Given the description of an element on the screen output the (x, y) to click on. 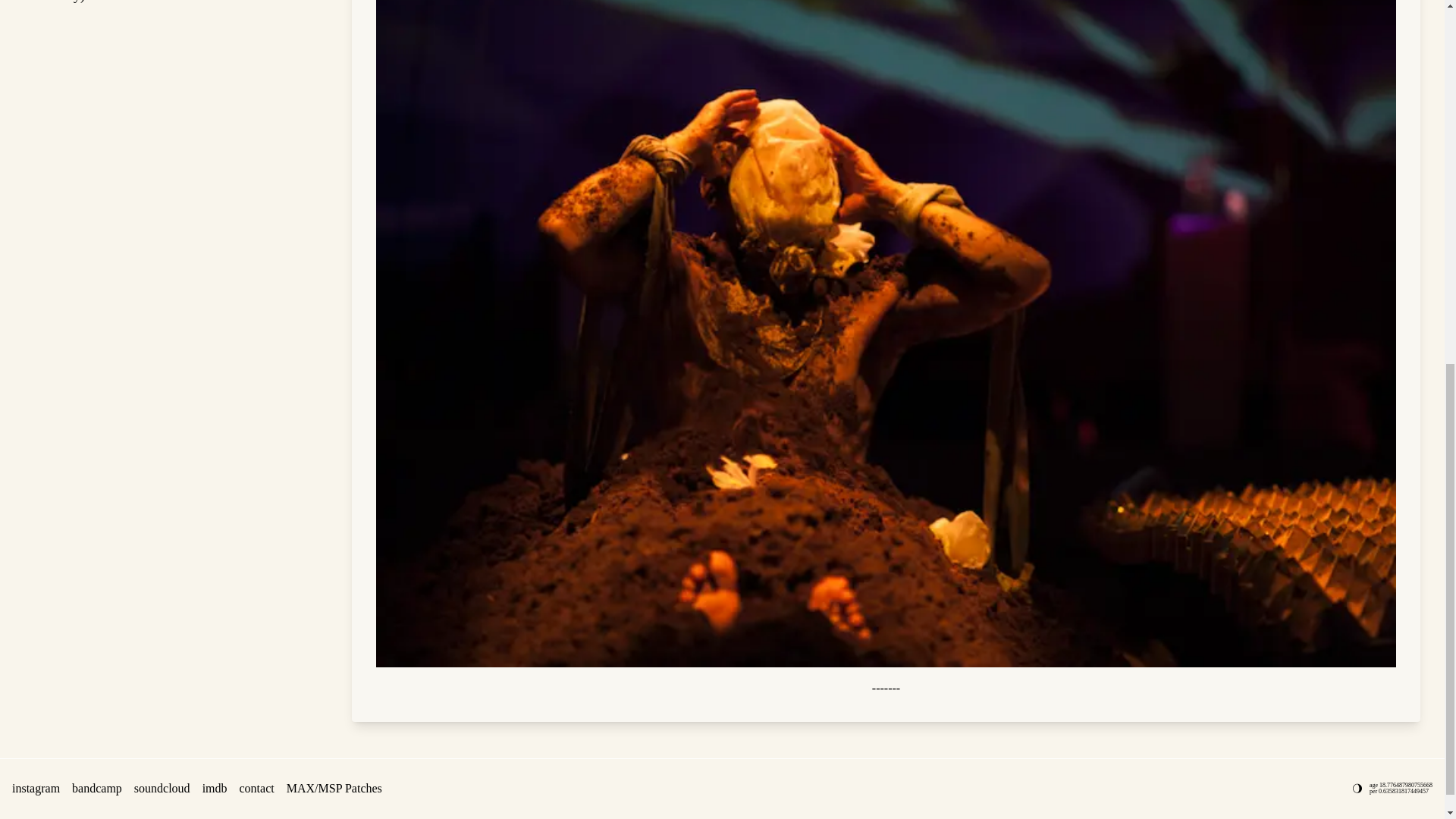
soundcloud (161, 118)
instagram (35, 118)
bandcamp (96, 118)
imdb (214, 118)
contact (257, 118)
